Given the description of an element on the screen output the (x, y) to click on. 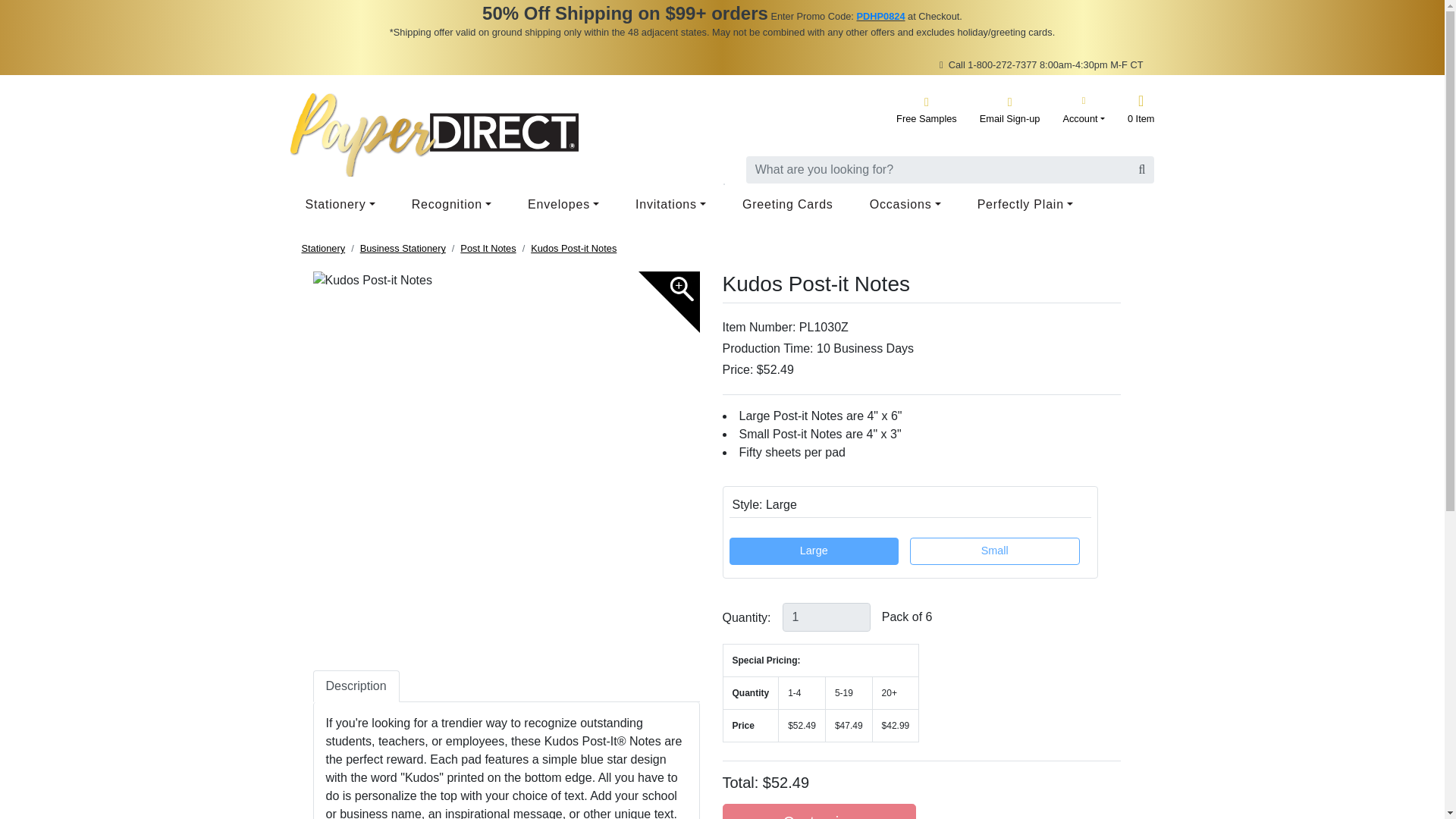
PDHP0824 (880, 16)
Kudos Post-it Notes (505, 280)
Account (1083, 109)
1 (826, 616)
Stationery (342, 204)
